Given the description of an element on the screen output the (x, y) to click on. 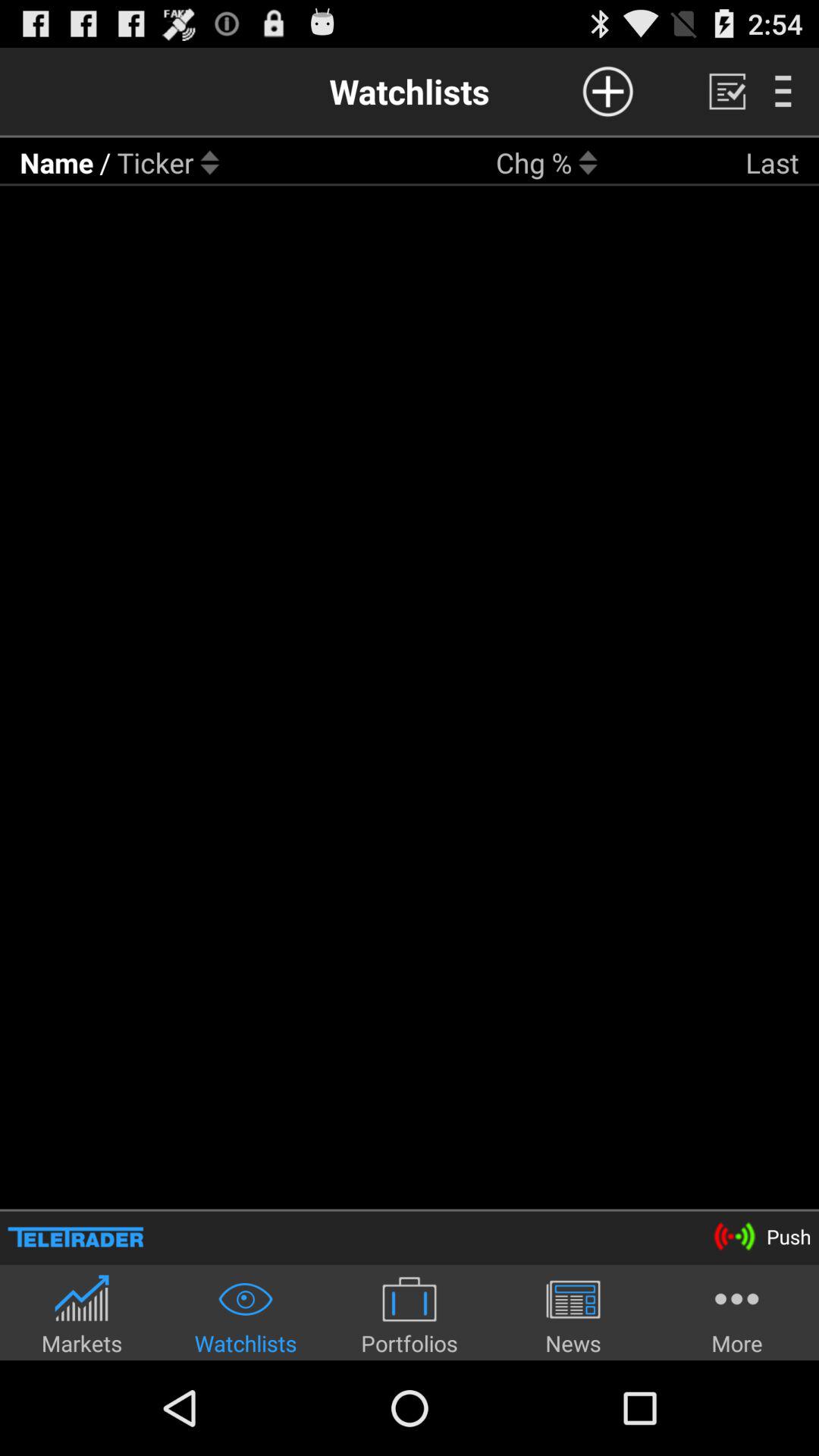
select item to the left of the more item (573, 1314)
